Given the description of an element on the screen output the (x, y) to click on. 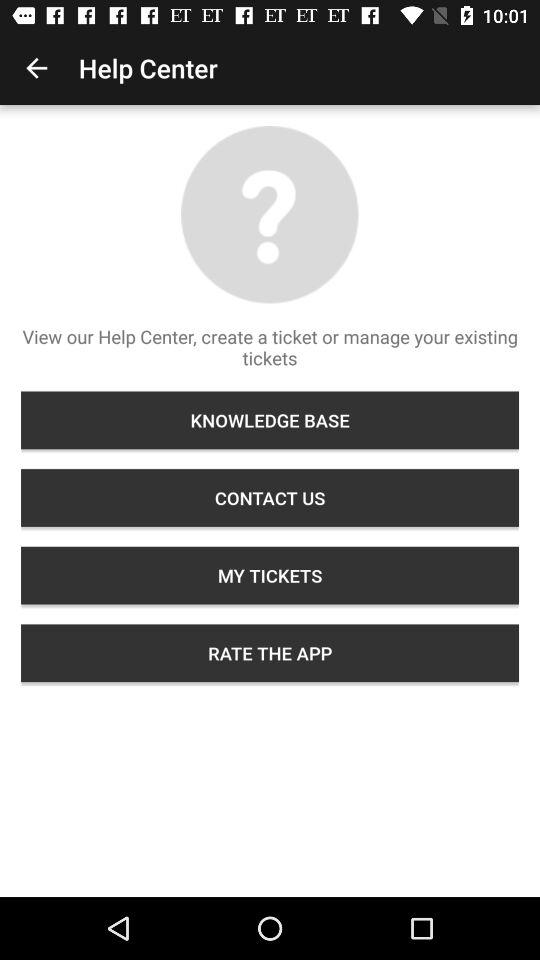
launch item below the view our help item (270, 420)
